Given the description of an element on the screen output the (x, y) to click on. 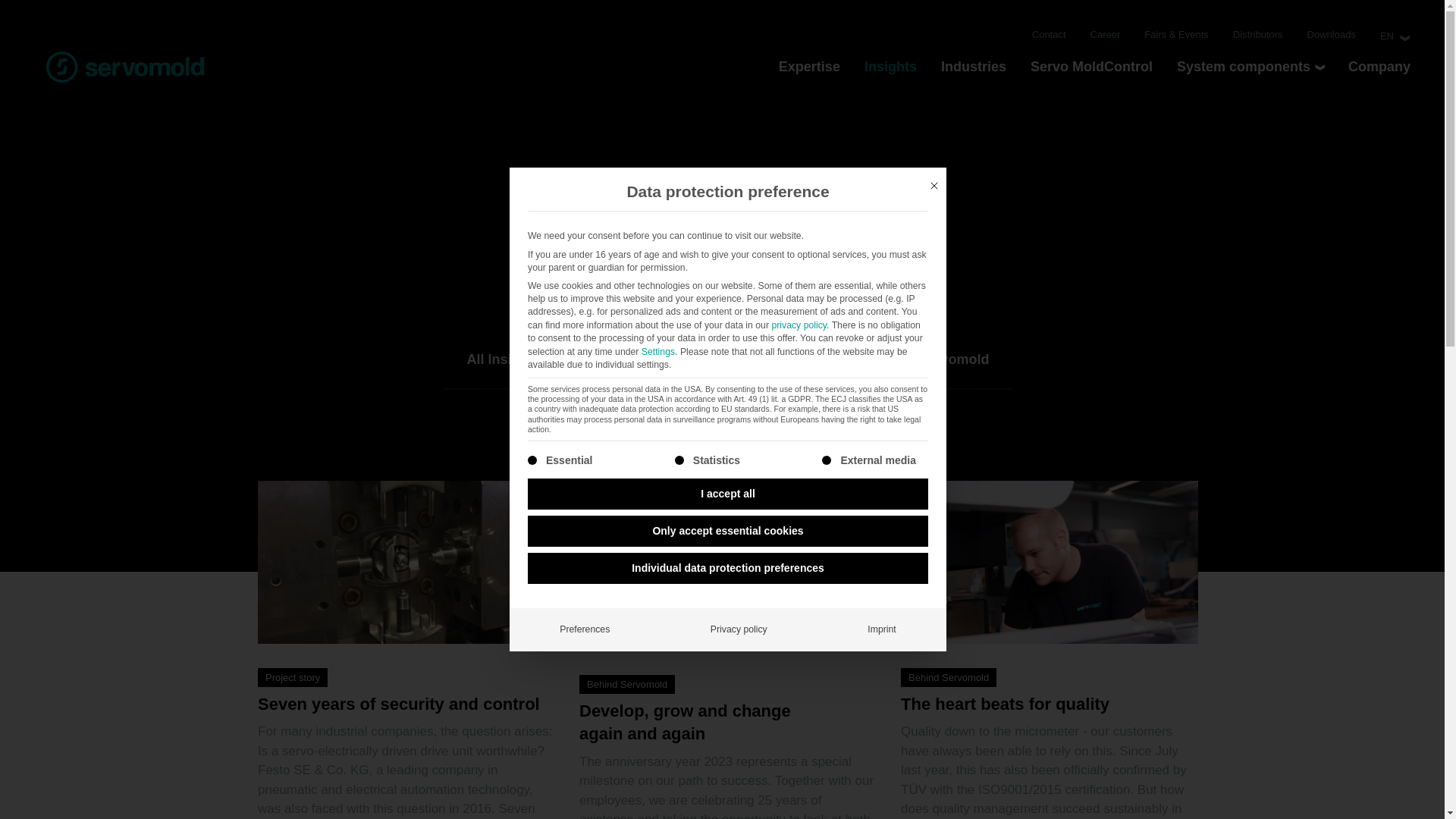
Behind Servomold (928, 359)
All Insights (503, 359)
Servo MoldControl (1091, 66)
Career (1105, 34)
Back to the overview (734, 248)
Insights (890, 66)
Downloads (1331, 34)
EN (1386, 35)
Company (1379, 66)
Expertise (809, 66)
Distributors (1257, 34)
Technical article (769, 359)
Project story (628, 359)
Industries (973, 66)
Contact (1048, 34)
